Given the description of an element on the screen output the (x, y) to click on. 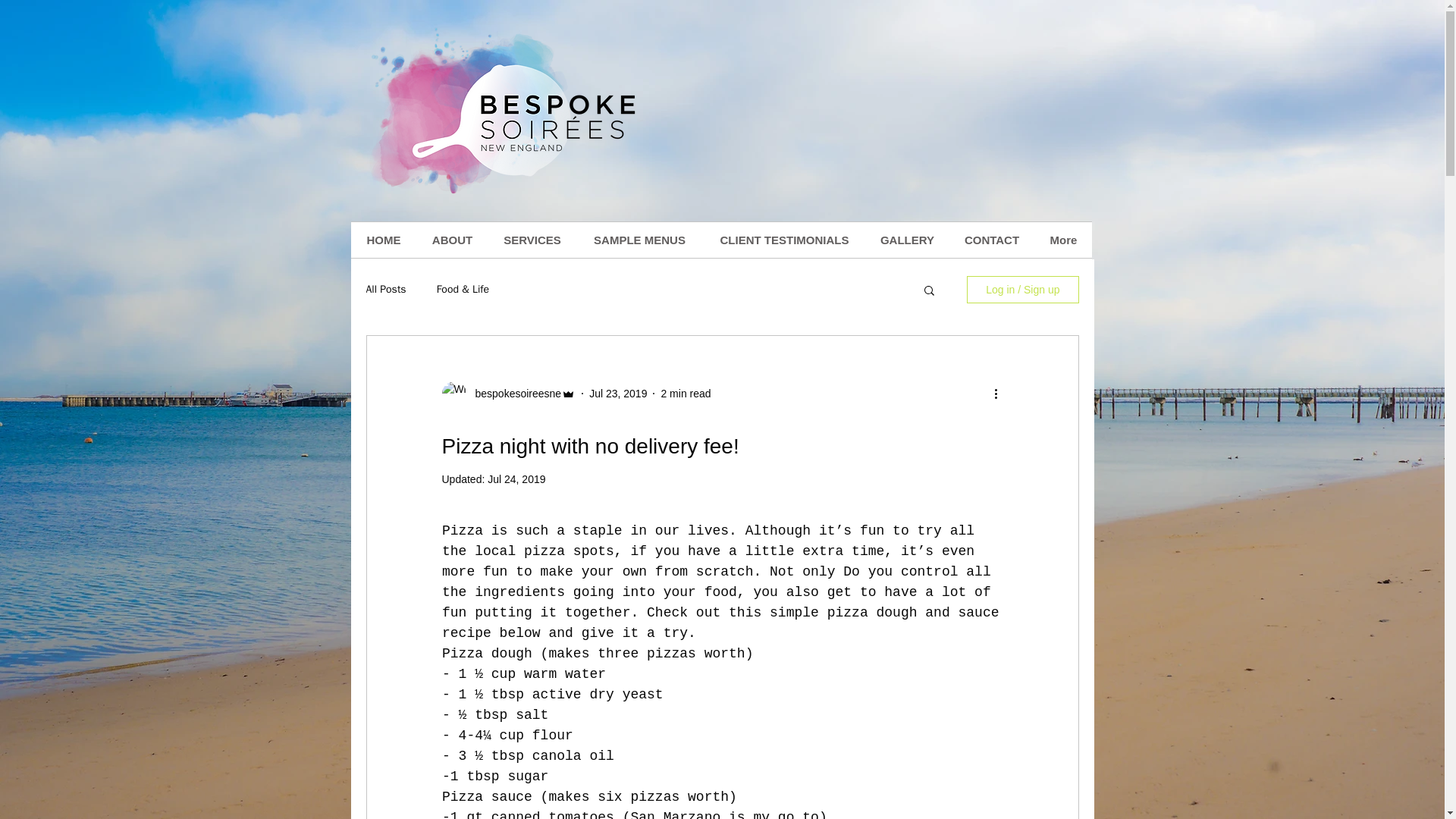
ABOUT (451, 239)
HOME (383, 239)
bespokesoireesne (512, 392)
SAMPLE MENUS (638, 239)
GALLERY (906, 239)
CONTACT (991, 239)
SERVICES (531, 239)
2 min read (685, 392)
Jul 23, 2019 (617, 392)
CLIENT TESTIMONIALS (783, 239)
